Given the description of an element on the screen output the (x, y) to click on. 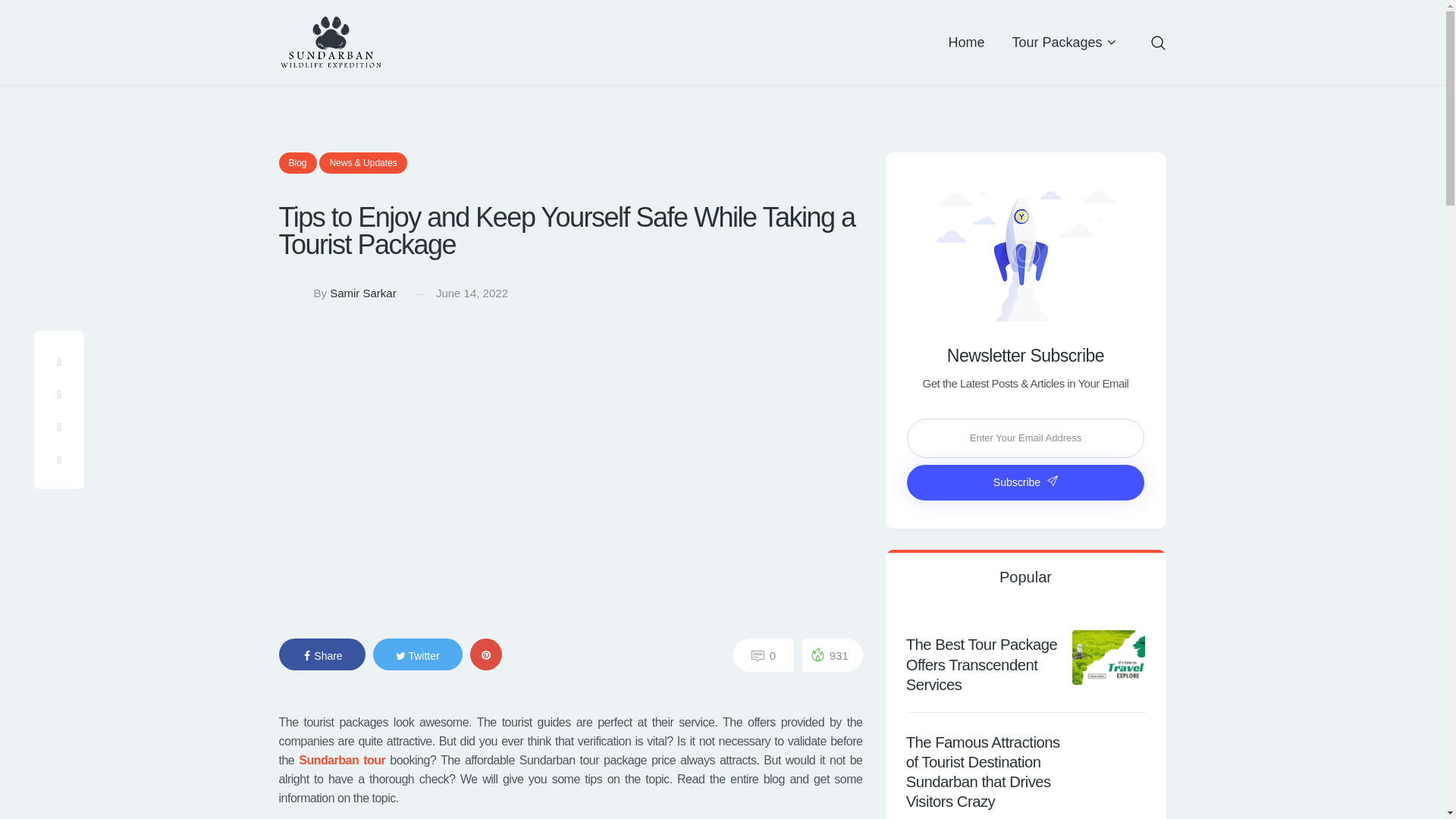
Sundarban Luxury Tour Package (341, 759)
Save to Pinterest (58, 427)
Share on LinkedIn (58, 460)
Tour Packages (1063, 42)
Share on Facebook (58, 361)
Home (965, 42)
Share on Twitter (58, 395)
